Given the description of an element on the screen output the (x, y) to click on. 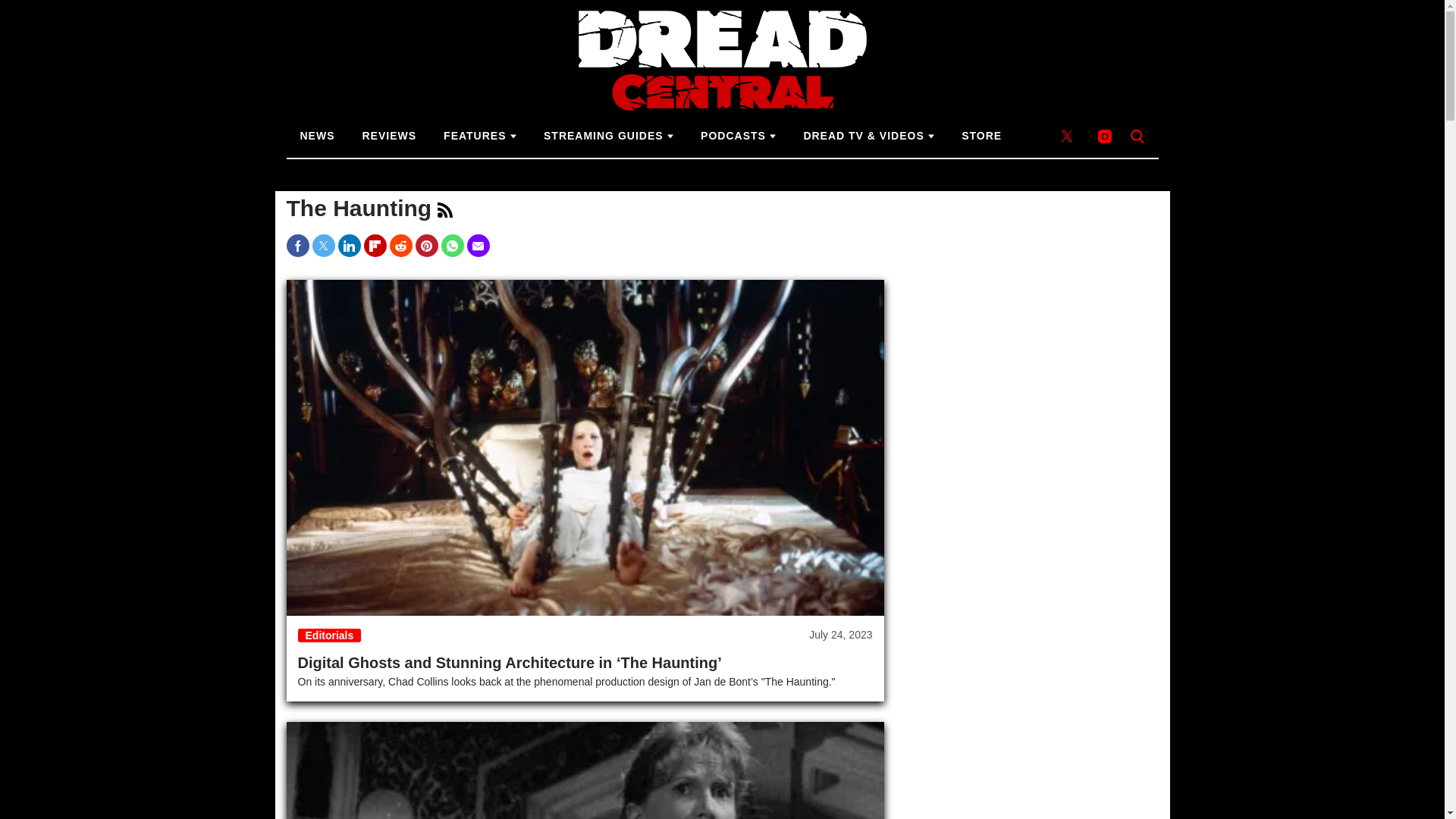
PODCASTS (738, 136)
Share on Flipboard (375, 245)
Share on Twitter (323, 245)
REVIEWS (389, 136)
STORE (980, 136)
Share on Facebook (297, 245)
STREAMING GUIDES (608, 136)
Share on Pinterest (426, 245)
Group (445, 209)
NEWS (317, 136)
